Given the description of an element on the screen output the (x, y) to click on. 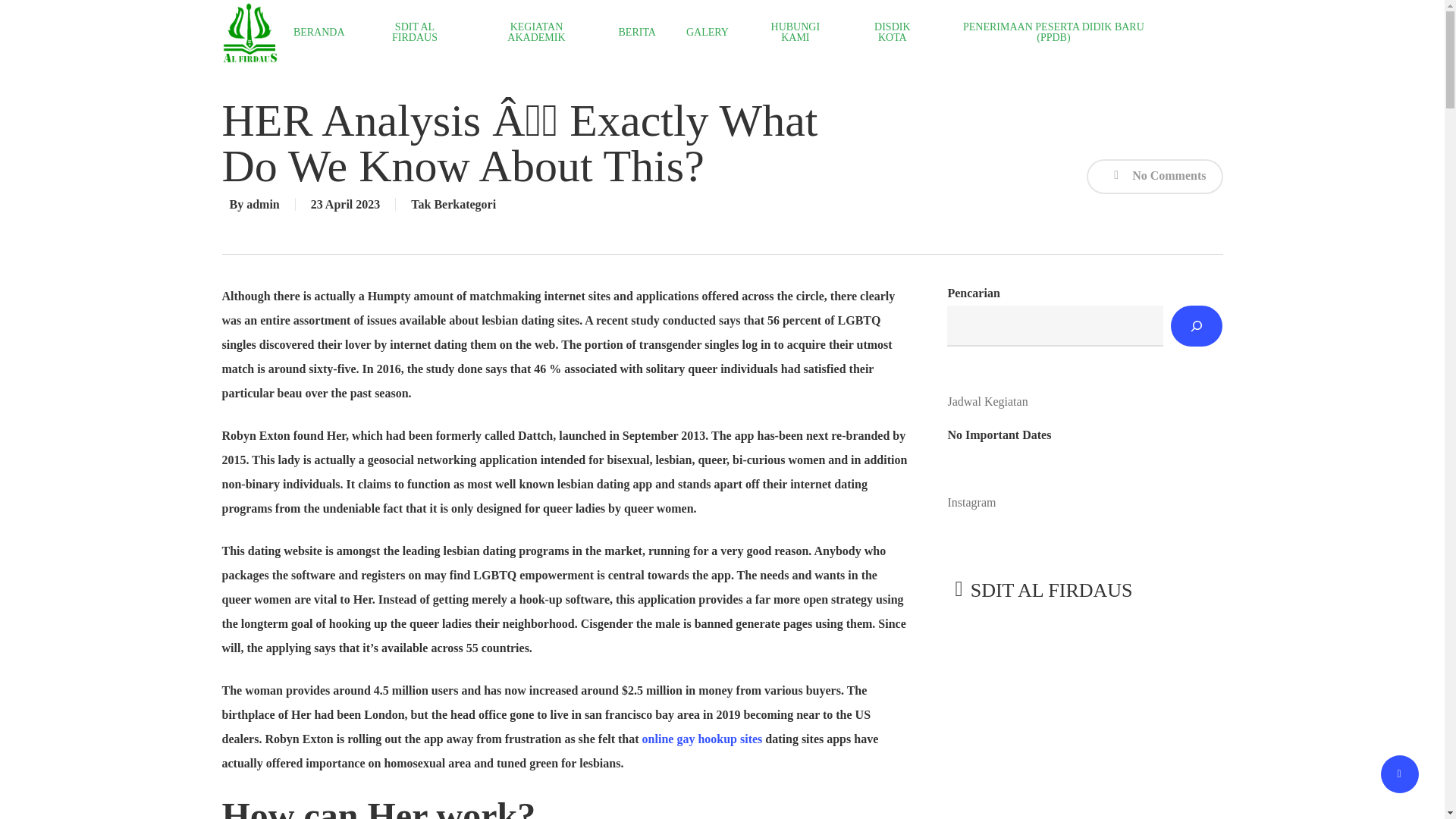
HUBUNGI KAMI (794, 32)
BERANDA (319, 32)
admin (262, 204)
SDIT AL FIRDAUS (414, 32)
Tak Berkategori (453, 204)
KEGIATAN AKADEMIK (536, 32)
GALERY (707, 32)
DISDIK KOTA (892, 32)
BERITA (637, 32)
No Comments (1154, 176)
